Given the description of an element on the screen output the (x, y) to click on. 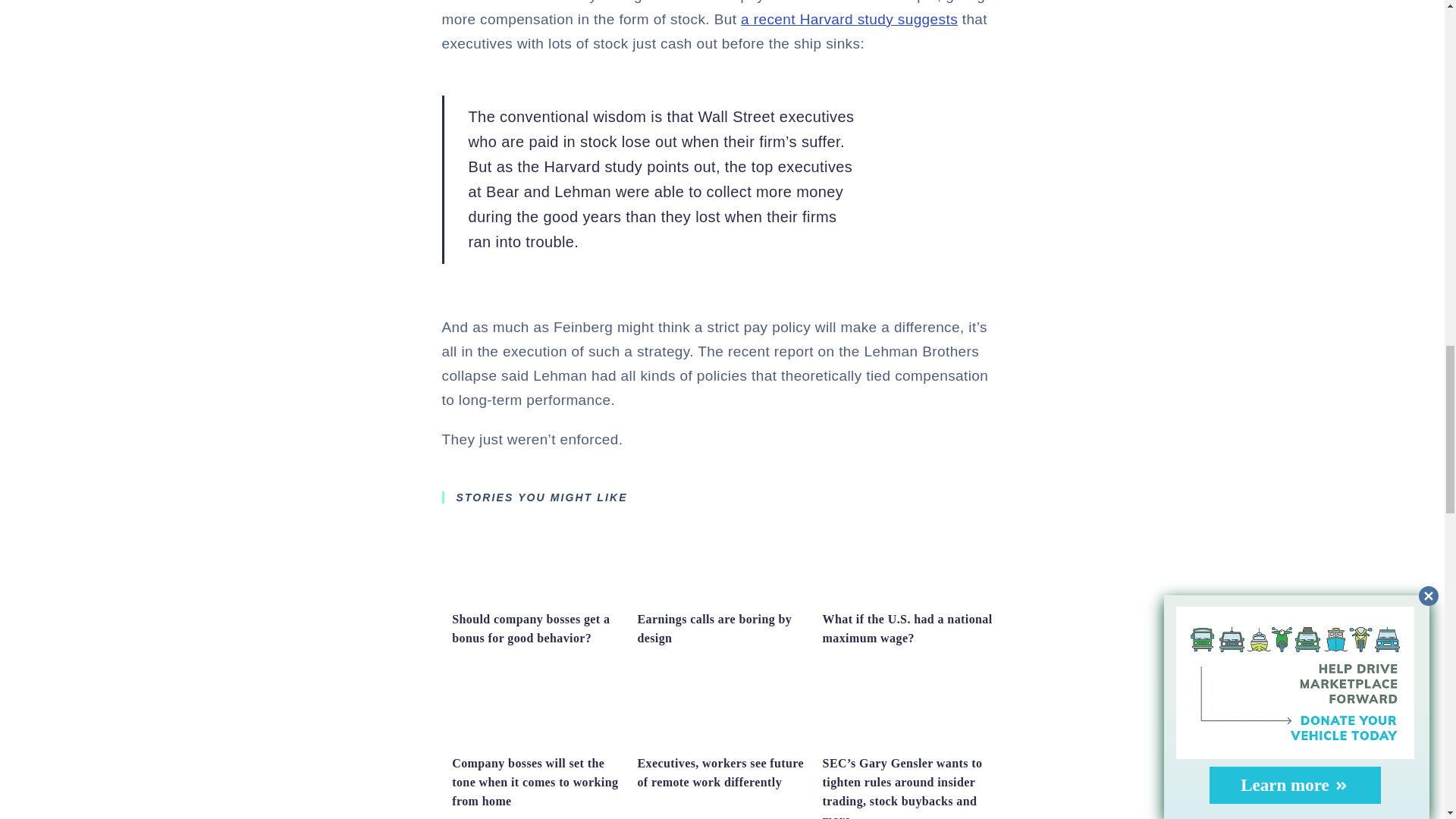
Earnings calls are boring by design (721, 596)
Should company bosses get a bonus for good behavior? (536, 596)
Should company bosses get a bonus for good behavior? (530, 628)
